Given the description of an element on the screen output the (x, y) to click on. 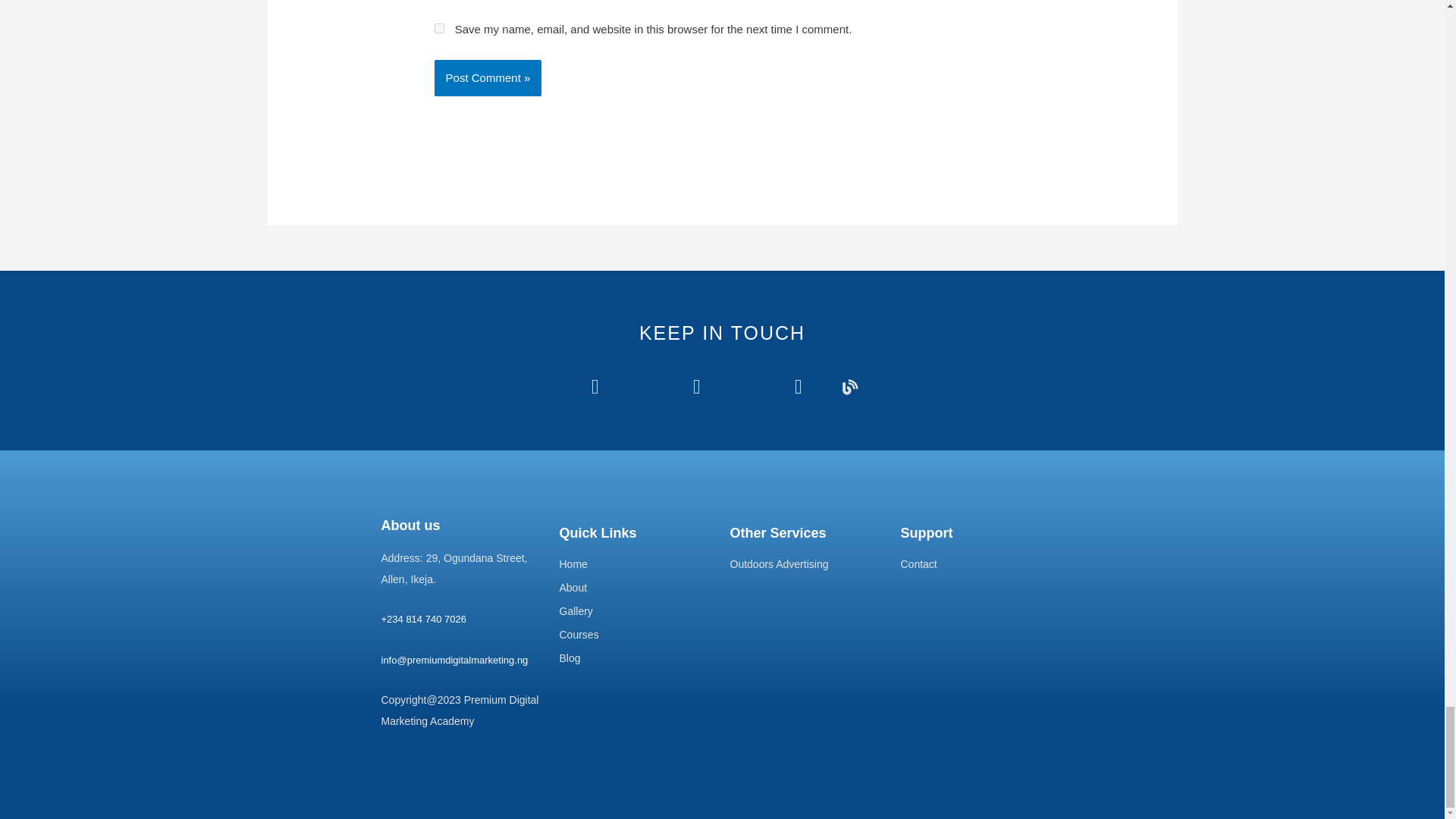
yes (438, 28)
